Given the description of an element on the screen output the (x, y) to click on. 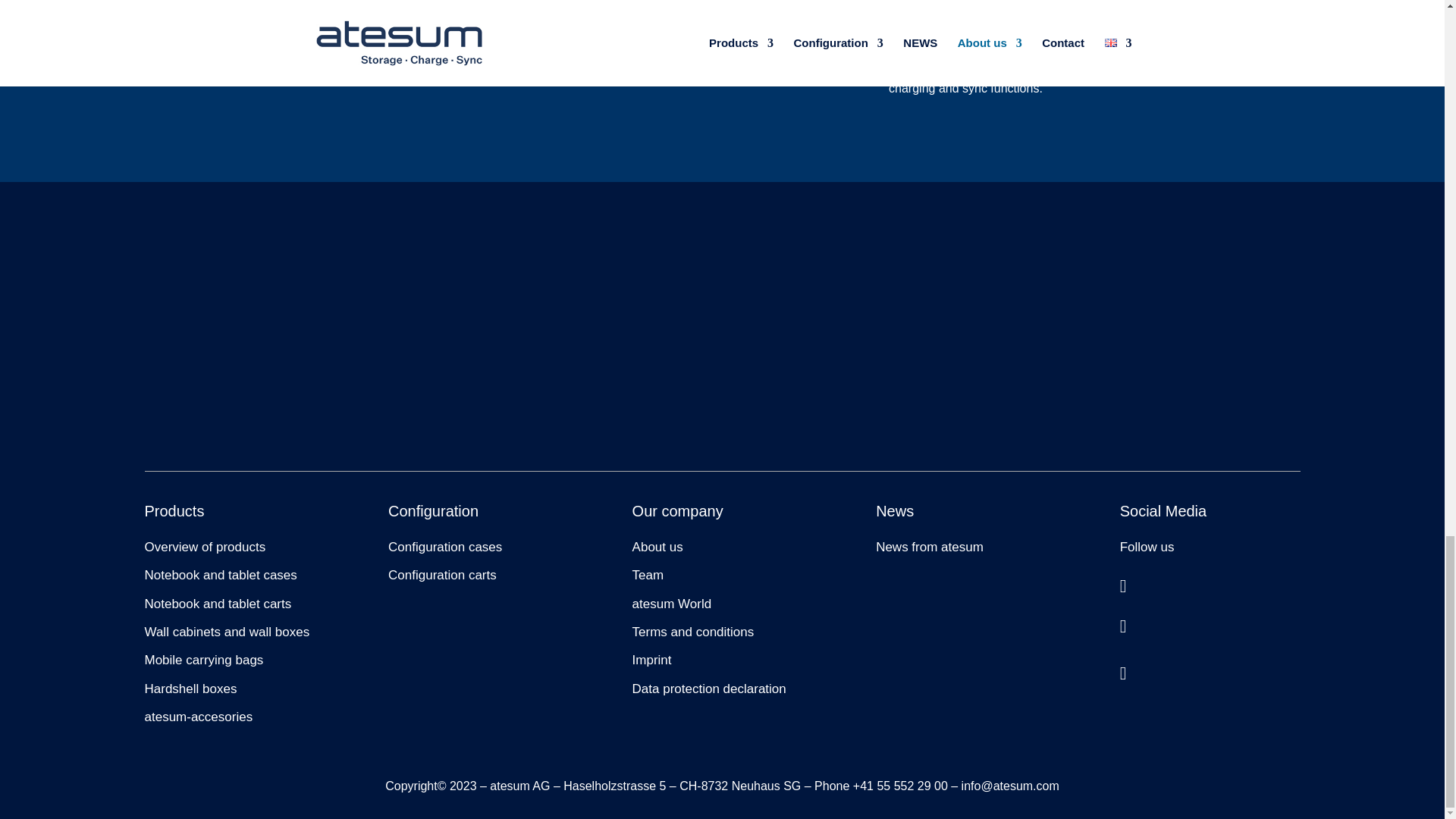
atesum-accesories (197, 716)
Mobile carrying bags (203, 659)
Notebook and tablet carts (217, 603)
Configuration carts (442, 575)
Configuration cases (445, 546)
atesum World (671, 603)
Page 2 (721, 39)
Team (647, 575)
About us (656, 546)
Hardshell boxes (189, 688)
Overview of products (204, 546)
Page 2 (433, 20)
Wall cabinets and wall boxes (226, 631)
Notebook and tablet cases (220, 575)
